Given the description of an element on the screen output the (x, y) to click on. 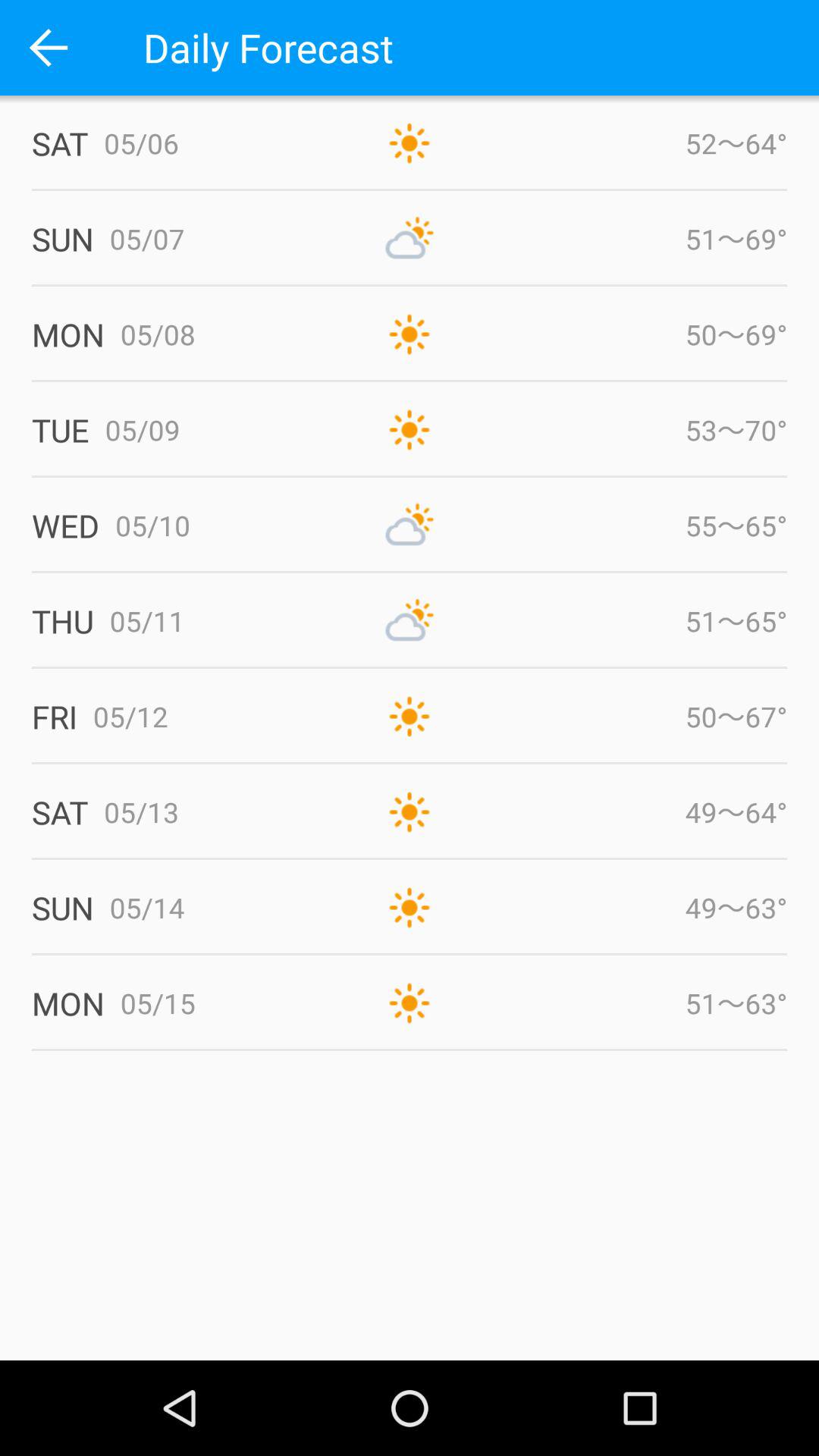
tap the icon next to the daily forecast (47, 47)
